Given the description of an element on the screen output the (x, y) to click on. 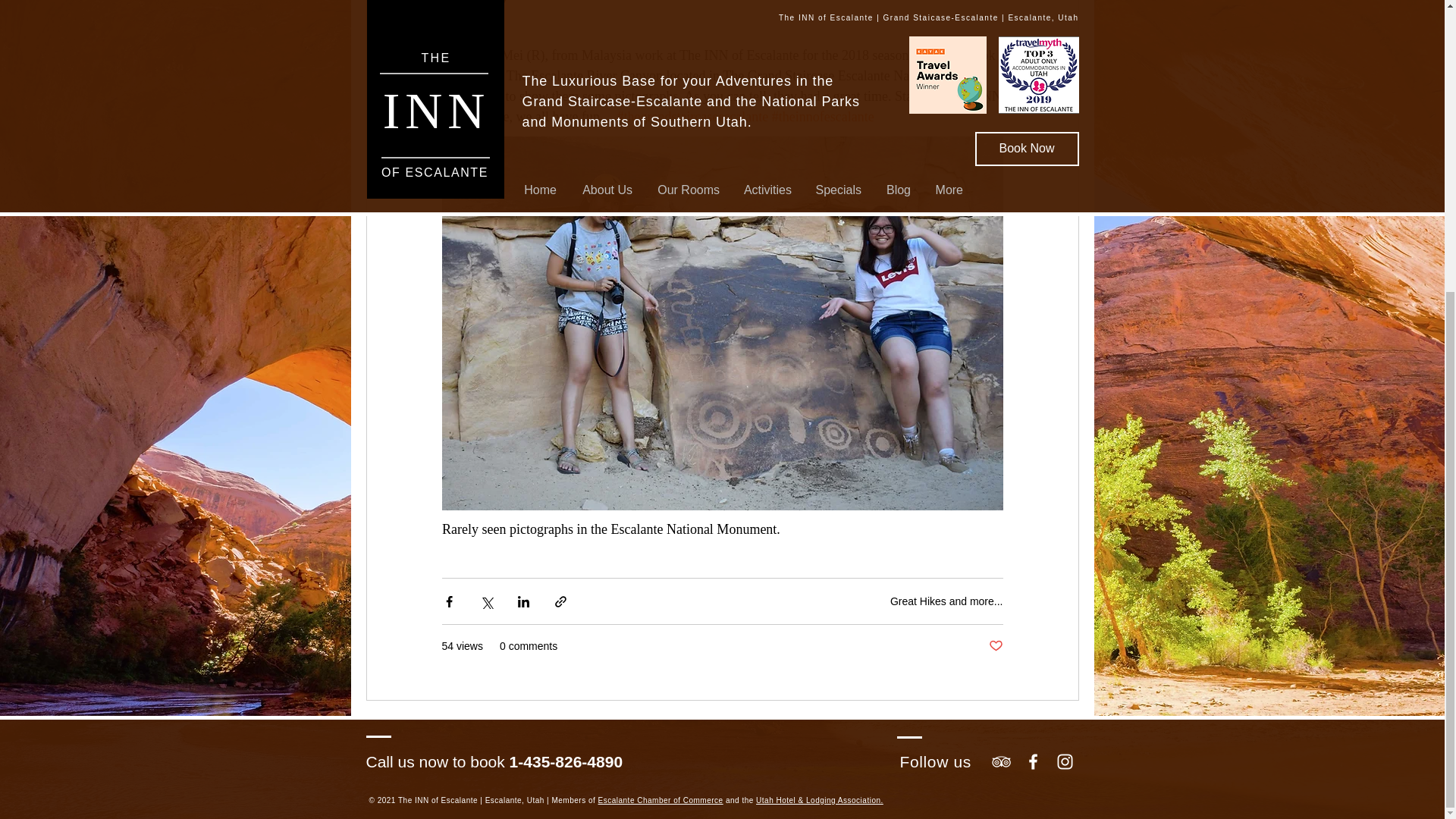
Escalante Chamber of Commerce (660, 799)
Great Hikes and more... (946, 601)
Post not marked as liked (995, 646)
